Given the description of an element on the screen output the (x, y) to click on. 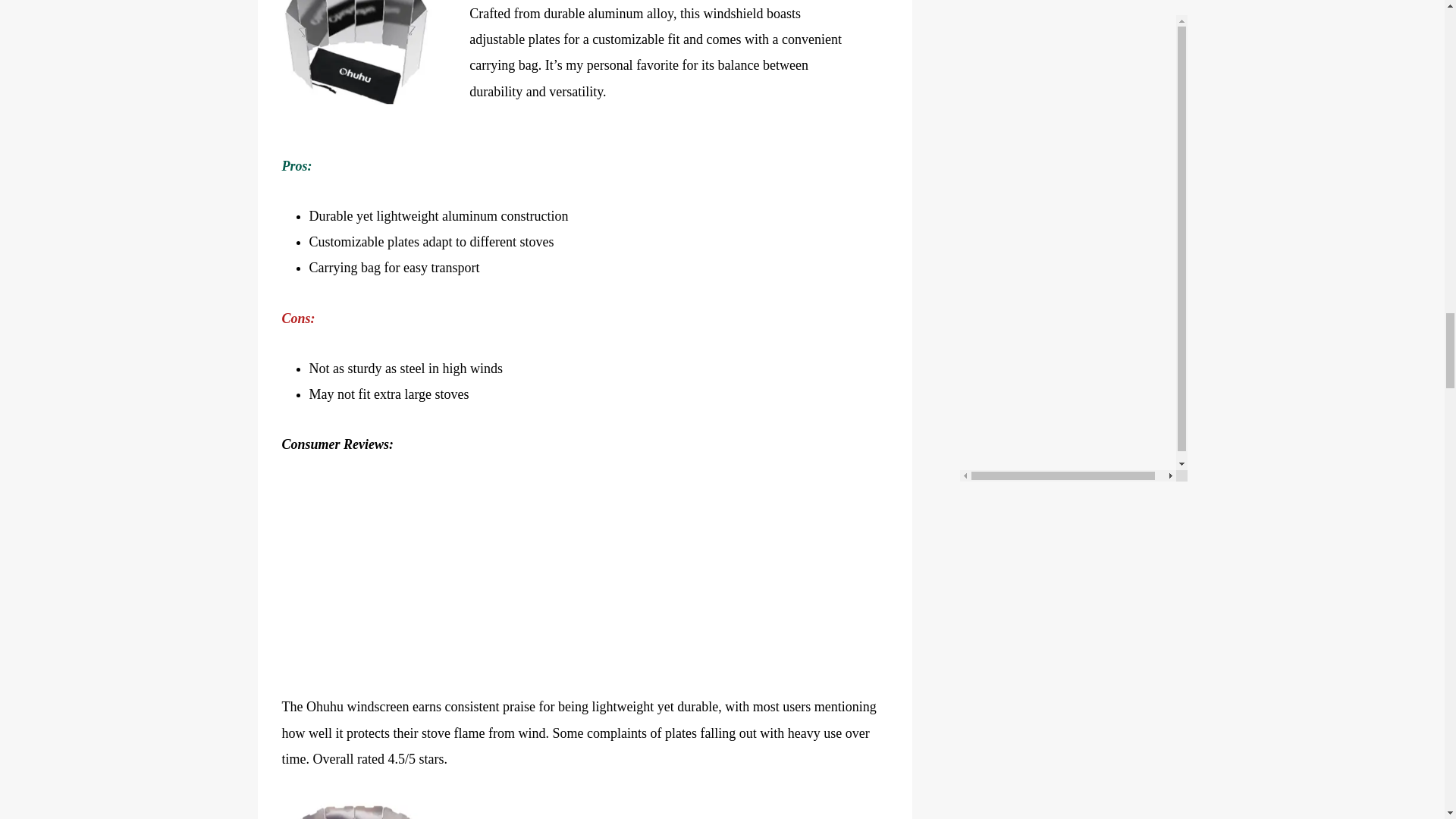
The Best Camping Stove Windshield For Windproof Cooking (357, 807)
The Best Camping Stove Windshield For Windproof Cooking (357, 59)
